Given the description of an element on the screen output the (x, y) to click on. 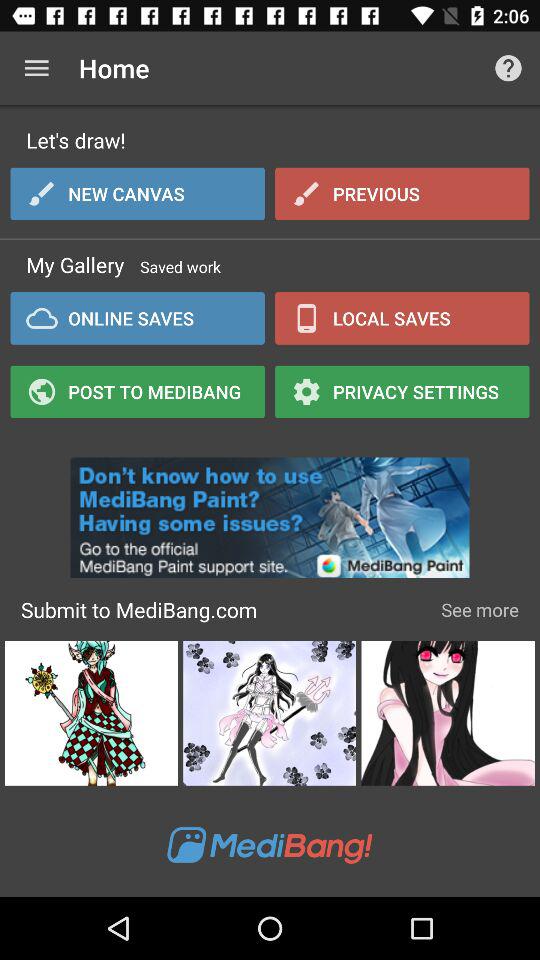
launch online saves icon (137, 318)
